Given the description of an element on the screen output the (x, y) to click on. 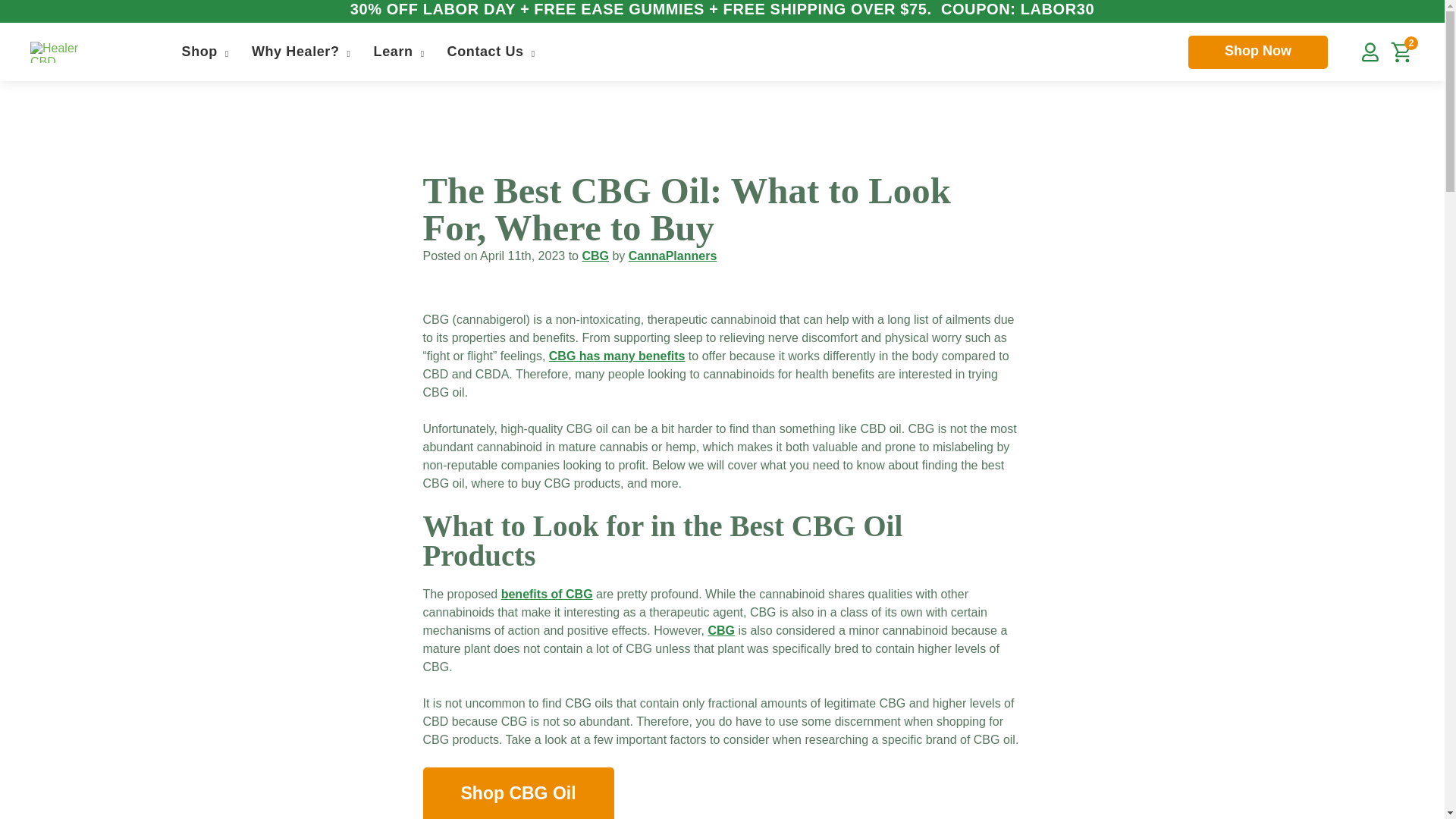
Learn (395, 51)
Why Healer? (296, 51)
Shop (201, 51)
home (68, 52)
Posts by CannaPlanners (672, 255)
